Given the description of an element on the screen output the (x, y) to click on. 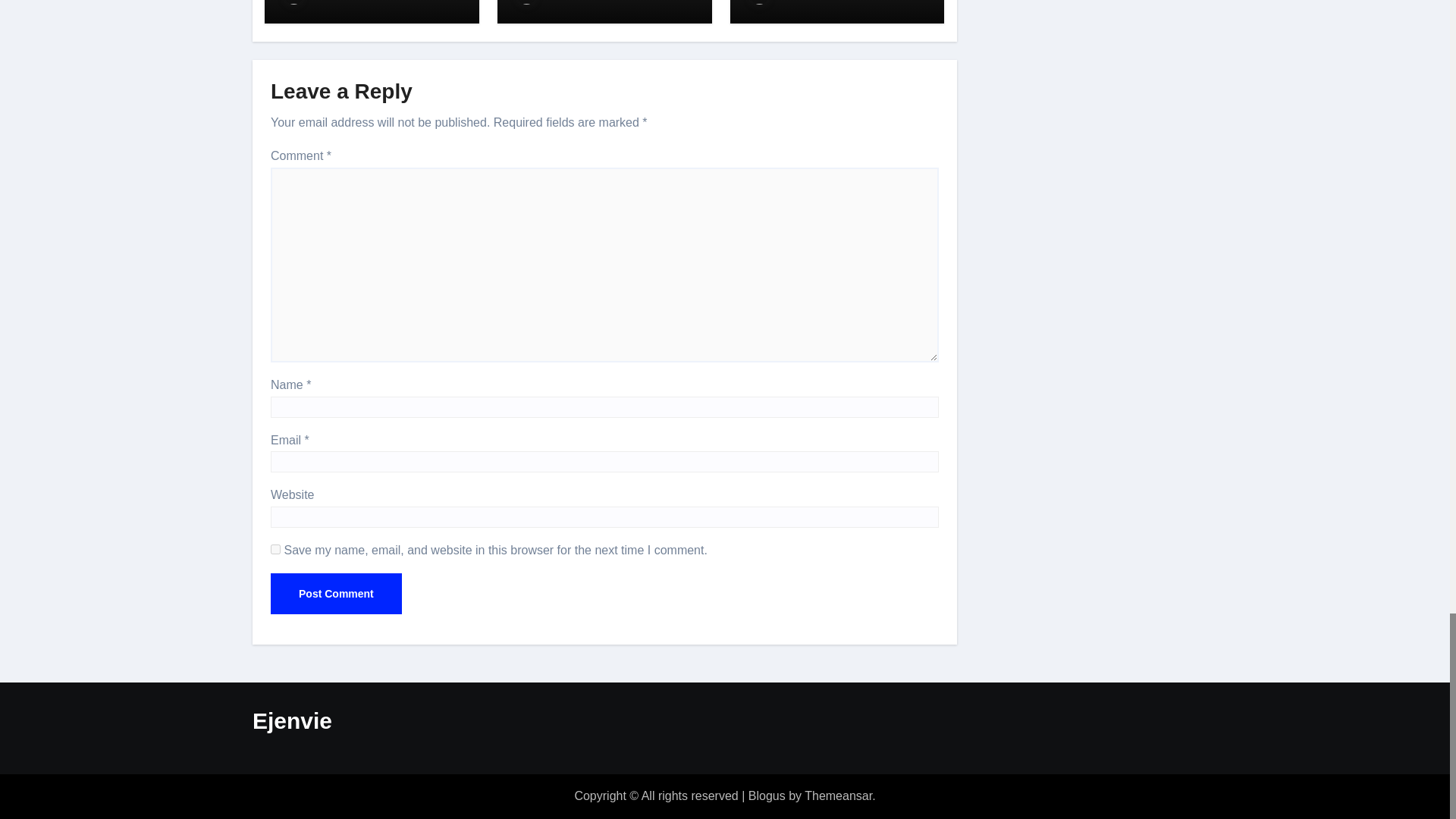
Post Comment (335, 593)
yes (275, 549)
Post Comment (335, 593)
